Given the description of an element on the screen output the (x, y) to click on. 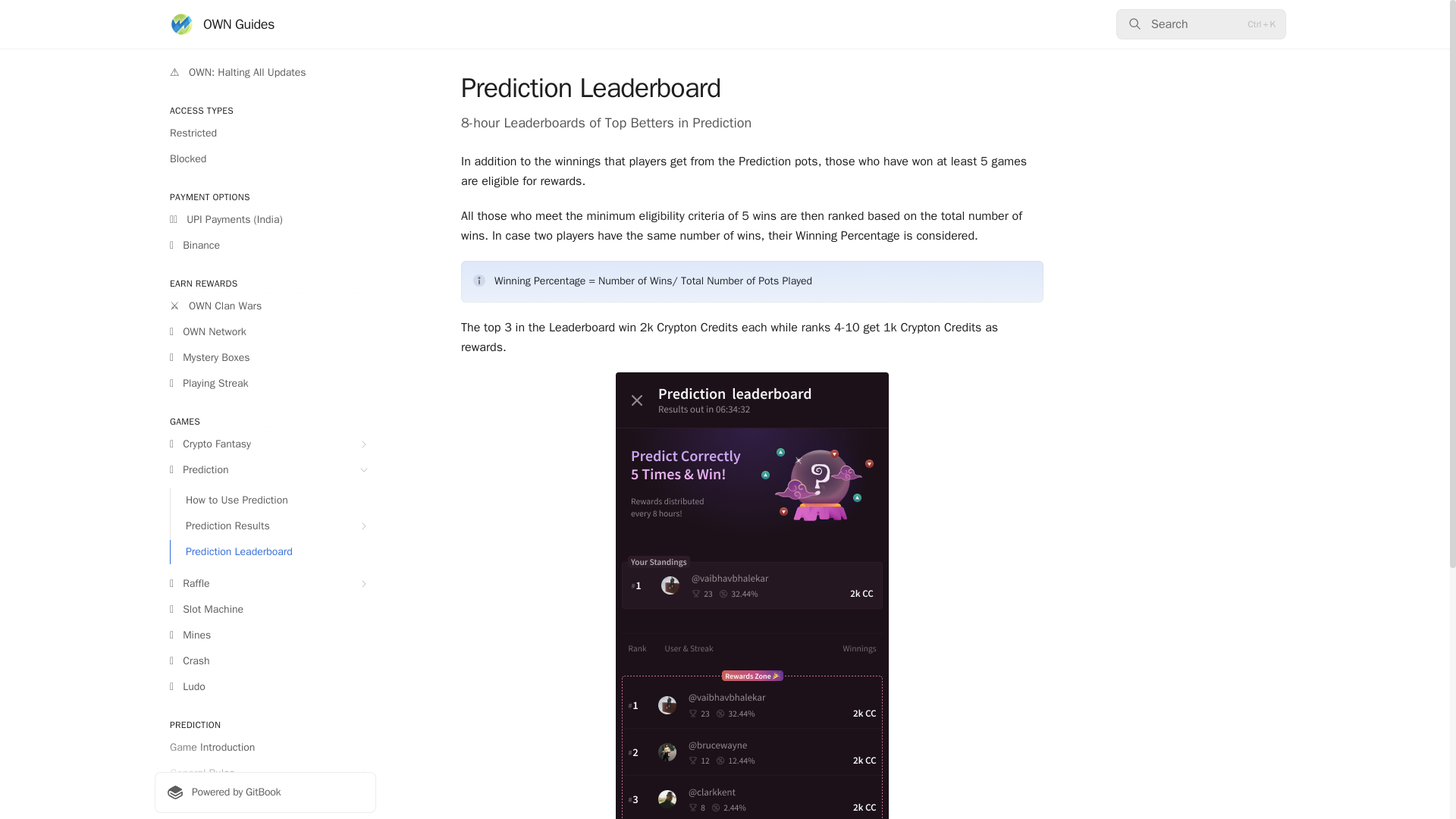
Rewards (264, 799)
OWN Guides (222, 24)
Prediction Results (272, 526)
General Rules (264, 773)
Blocked (264, 159)
Game Introduction (264, 747)
Prediction Leaderboard (272, 551)
How to Use Prediction (272, 500)
Restricted (264, 133)
